Given the description of an element on the screen output the (x, y) to click on. 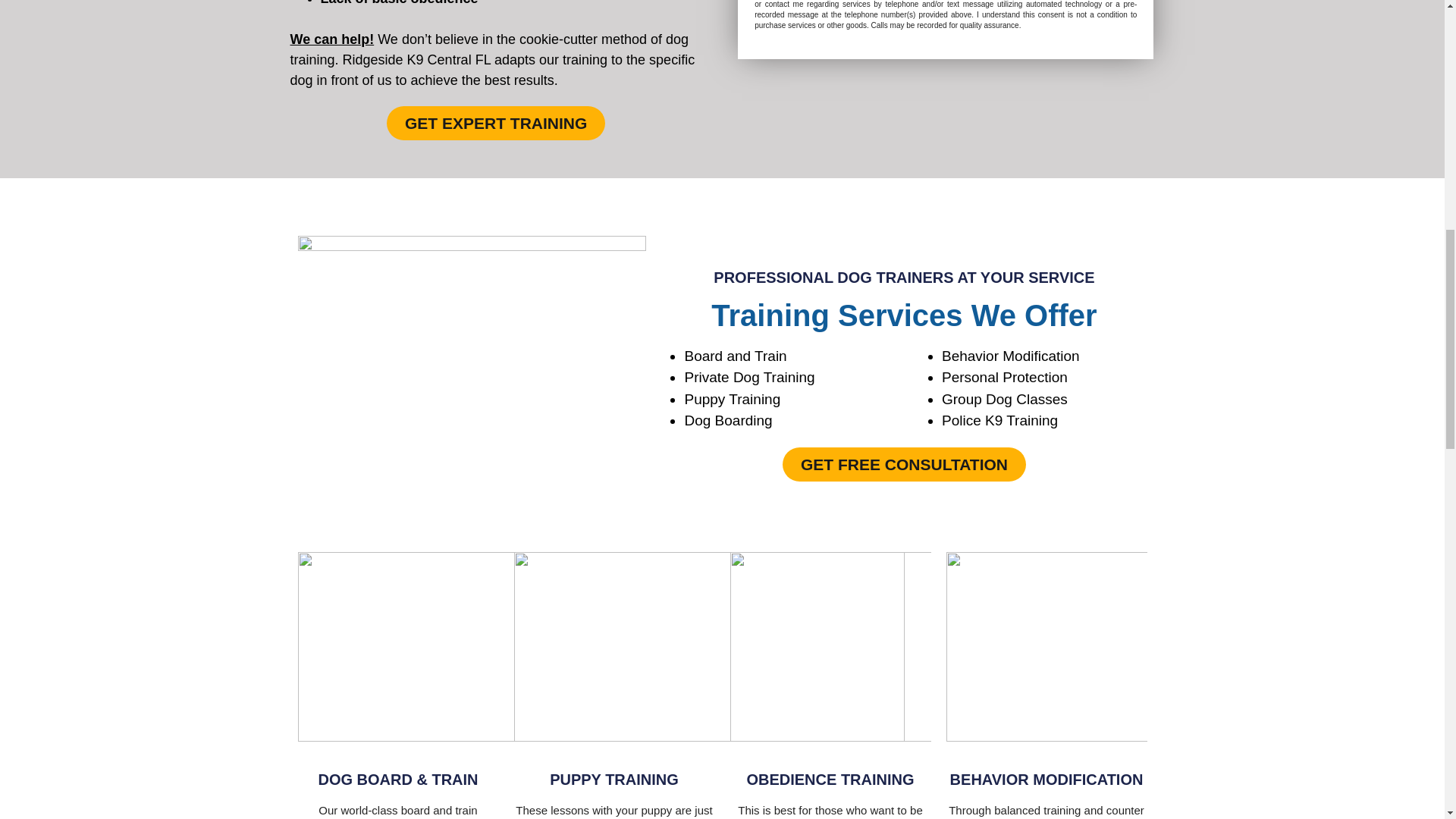
GET EXPERT TRAINING (496, 123)
GET FREE CONSULTATION (904, 464)
